Given the description of an element on the screen output the (x, y) to click on. 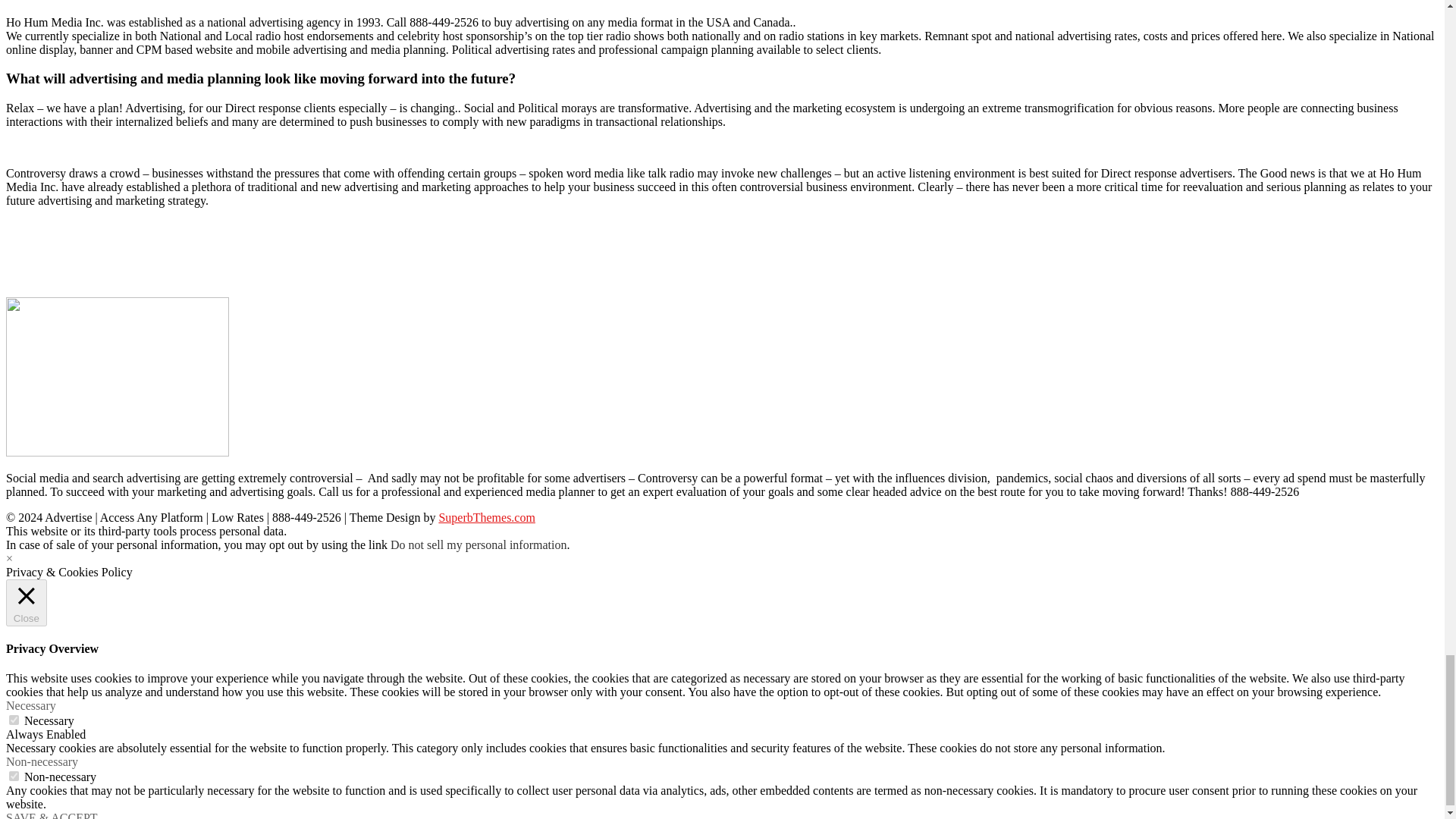
on (13, 776)
on (13, 719)
